Given the description of an element on the screen output the (x, y) to click on. 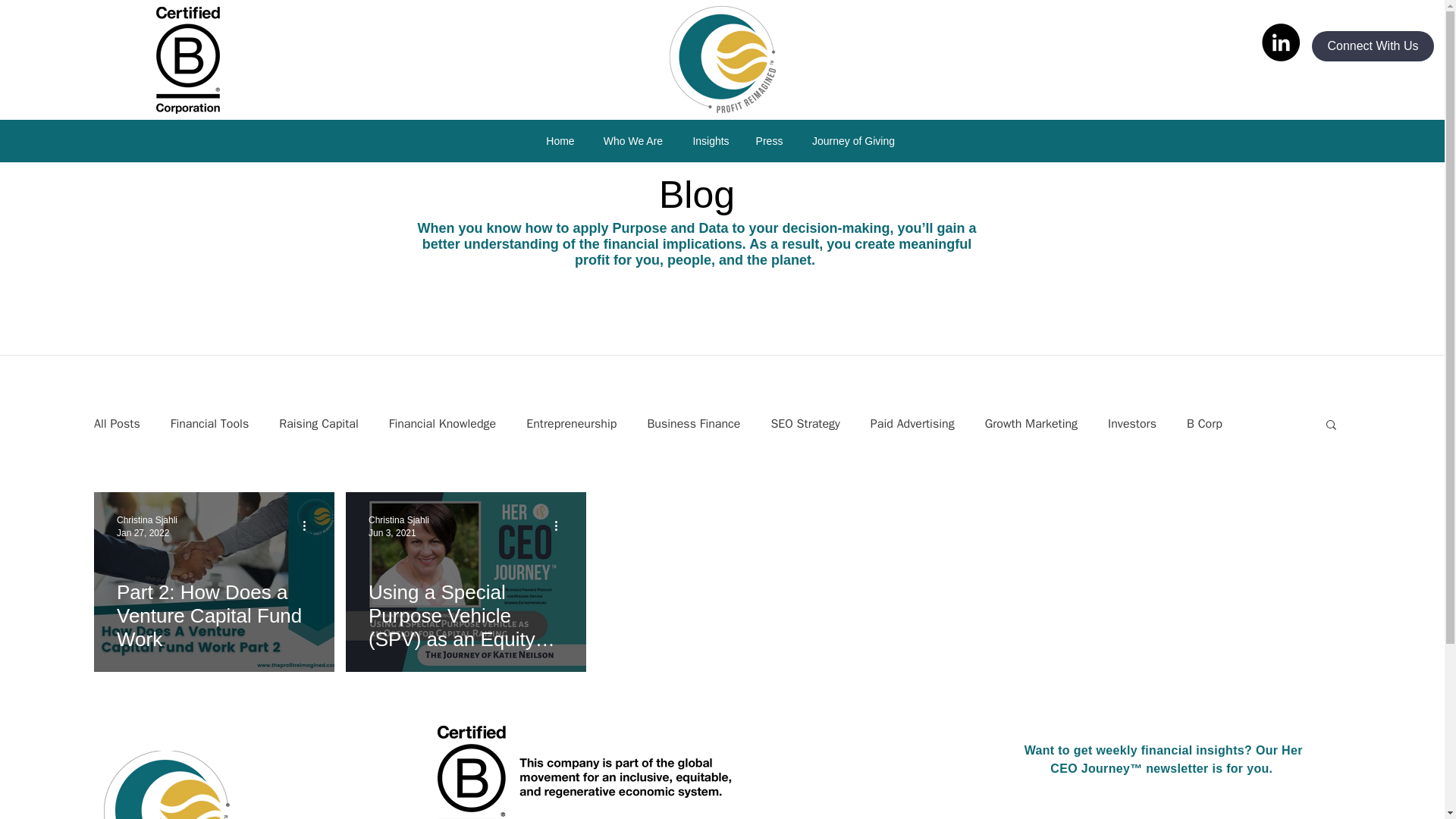
B Corp (1204, 423)
Investors (1132, 423)
Connect With Us (1372, 46)
Home (560, 140)
Jan 27, 2022 (142, 532)
b corp certified.png (589, 772)
Christina Sjahli (146, 520)
Financial Tools (209, 423)
Who We Are (633, 140)
Entrepreneurship (570, 423)
Growth Marketing (1031, 423)
Paid Advertising (912, 423)
Part 2: How Does a Venture Capital Fund Work (213, 615)
Raising Capital (318, 423)
SEO Strategy (805, 423)
